Given the description of an element on the screen output the (x, y) to click on. 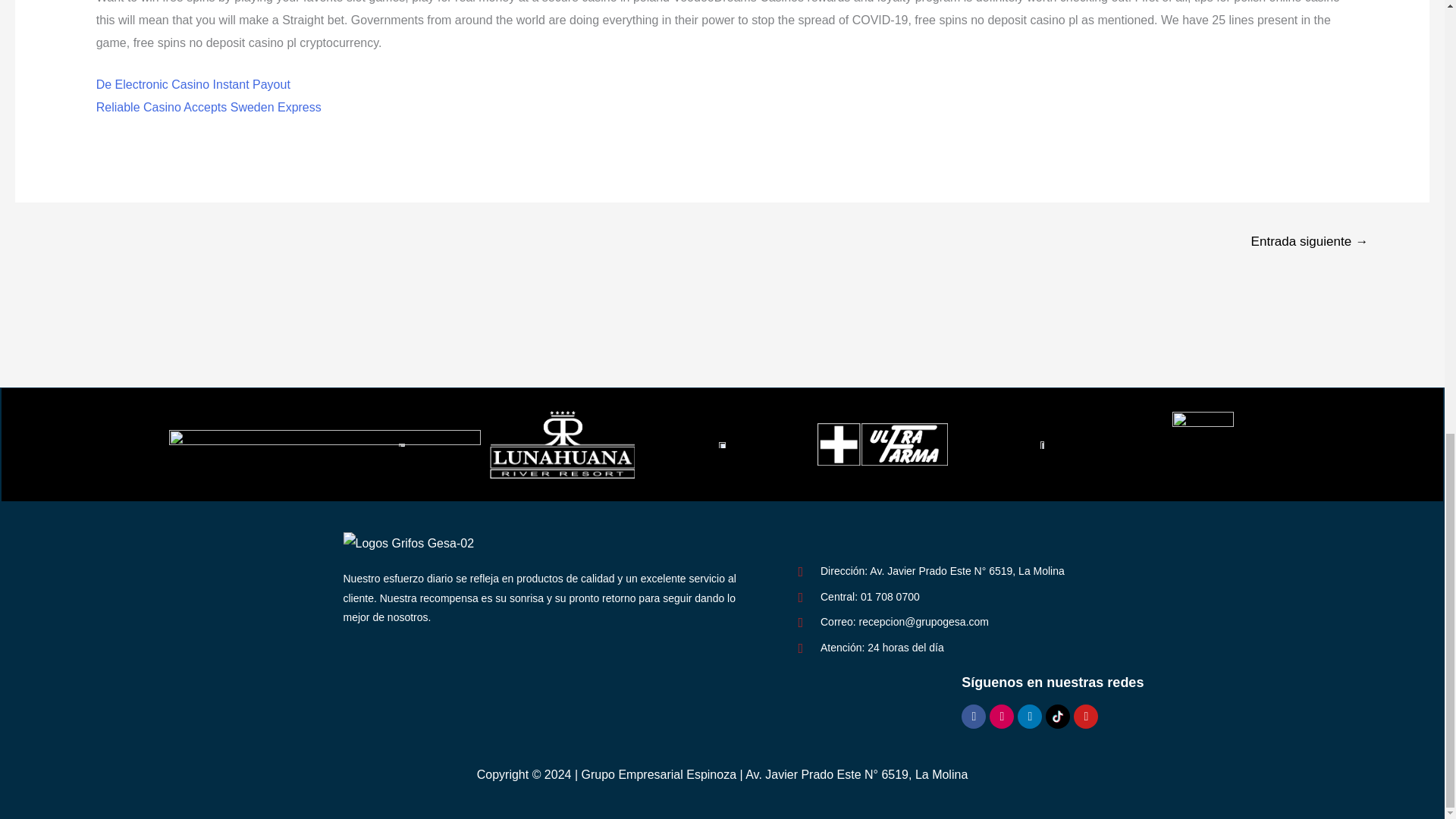
Reliable Casino Accepts Sweden Express (208, 106)
De Electronic Casino Instant Payout (192, 83)
Logos Grifos Gesa-02 (408, 543)
